Given the description of an element on the screen output the (x, y) to click on. 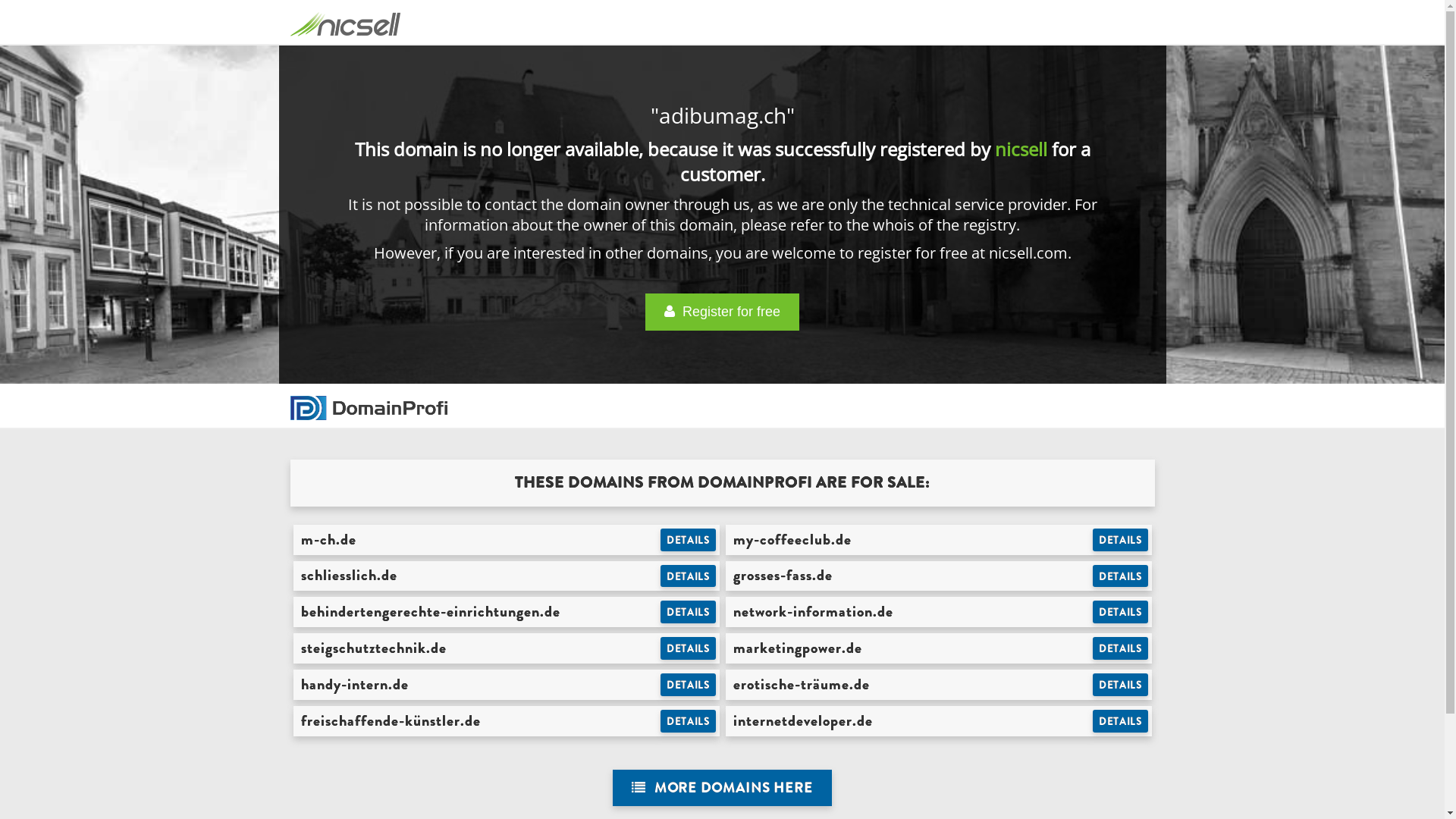
nicsell Element type: text (1020, 148)
DETAILS Element type: text (687, 684)
DETAILS Element type: text (687, 539)
DETAILS Element type: text (1120, 720)
DETAILS Element type: text (1120, 539)
DETAILS Element type: text (1120, 684)
  MORE DOMAINS HERE Element type: text (721, 787)
DETAILS Element type: text (1120, 575)
DETAILS Element type: text (687, 575)
  Register for free Element type: text (722, 311)
DETAILS Element type: text (1120, 611)
DETAILS Element type: text (687, 720)
DETAILS Element type: text (687, 648)
DETAILS Element type: text (1120, 648)
DETAILS Element type: text (687, 611)
